Given the description of an element on the screen output the (x, y) to click on. 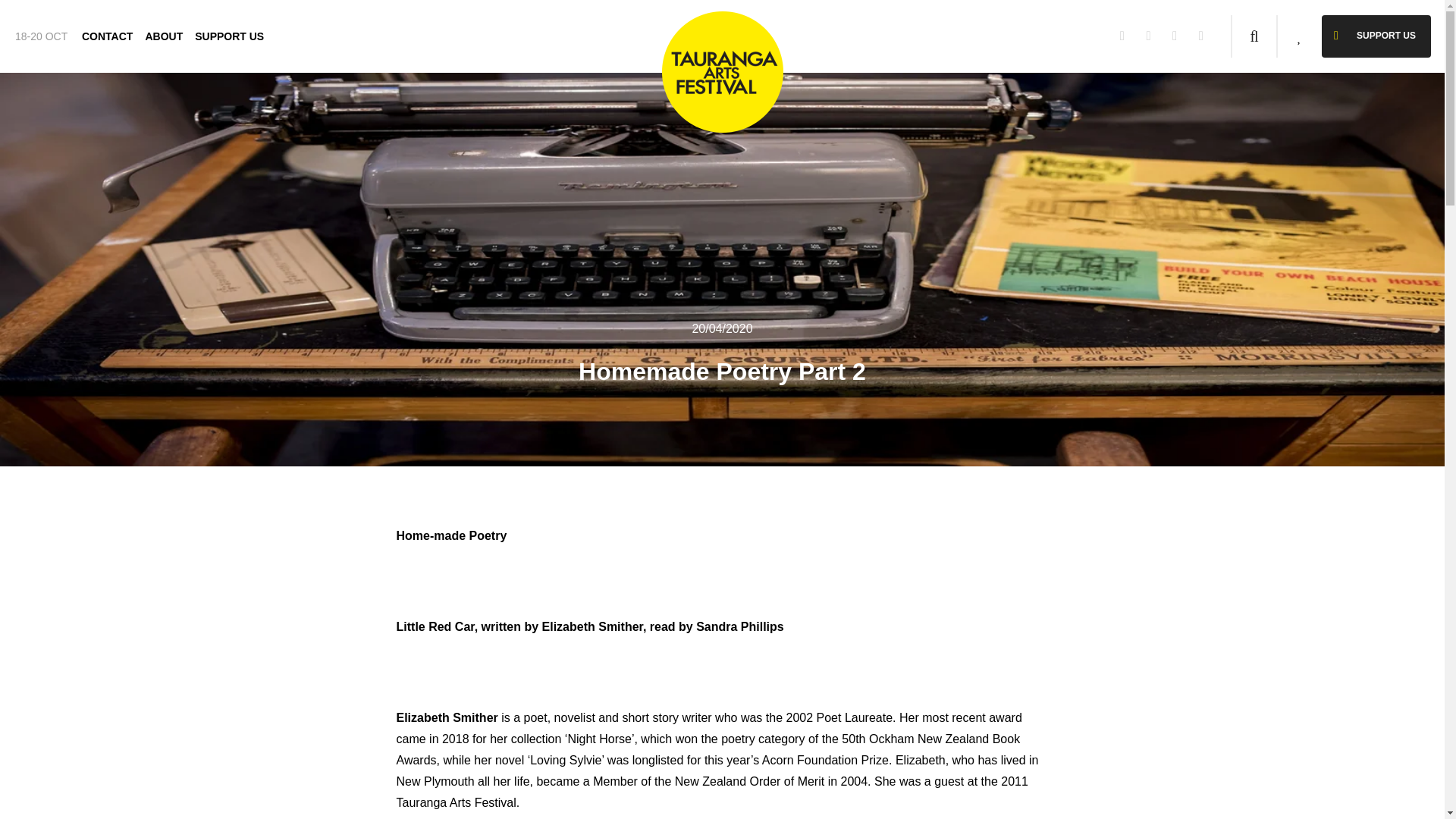
ABOUT (163, 33)
SUPPORT US (229, 33)
SUPPORT US (1376, 36)
CONTACT (106, 33)
